Given the description of an element on the screen output the (x, y) to click on. 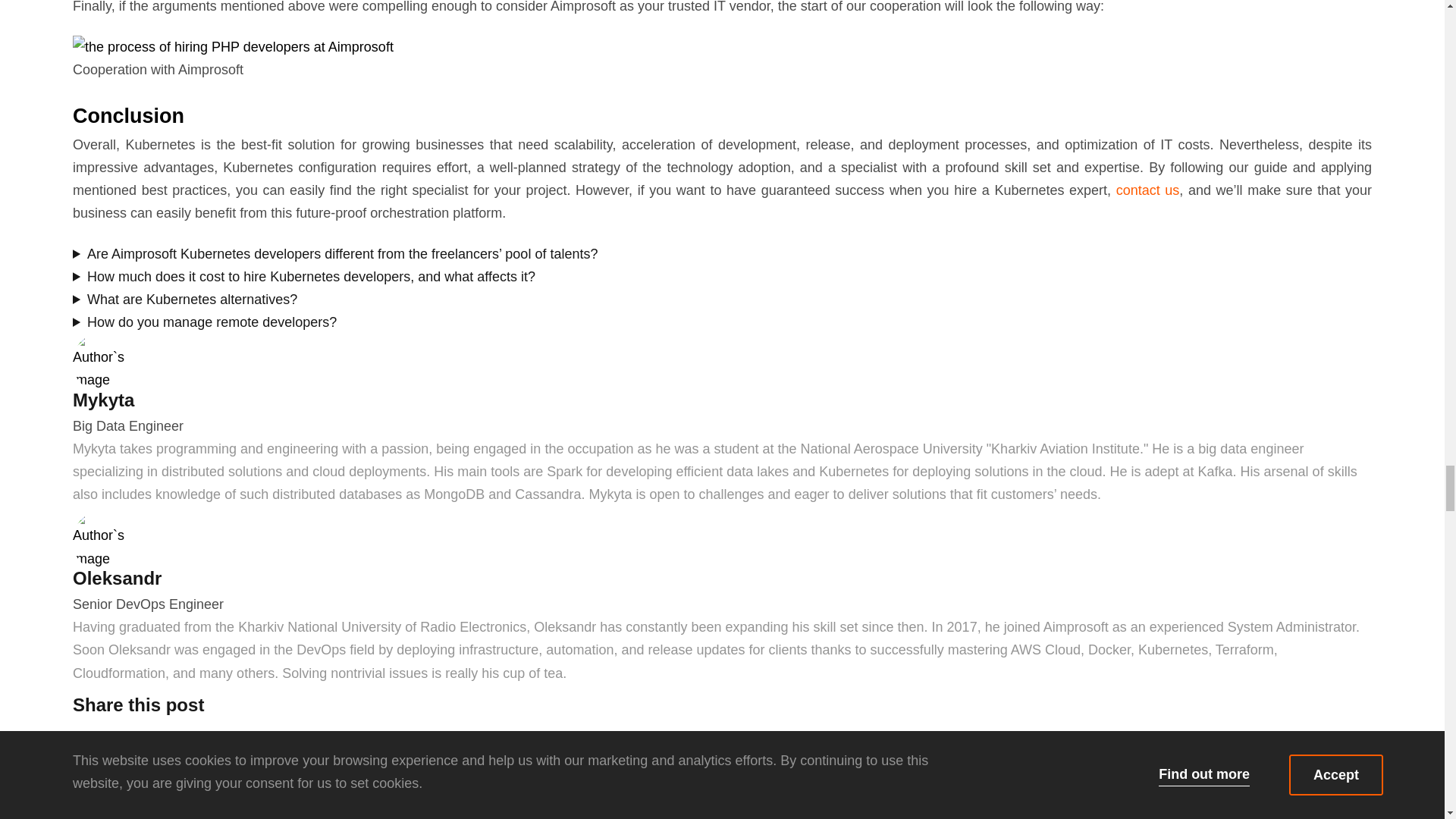
The process of hiring PHP developers at Aimprosoft (232, 47)
